Given the description of an element on the screen output the (x, y) to click on. 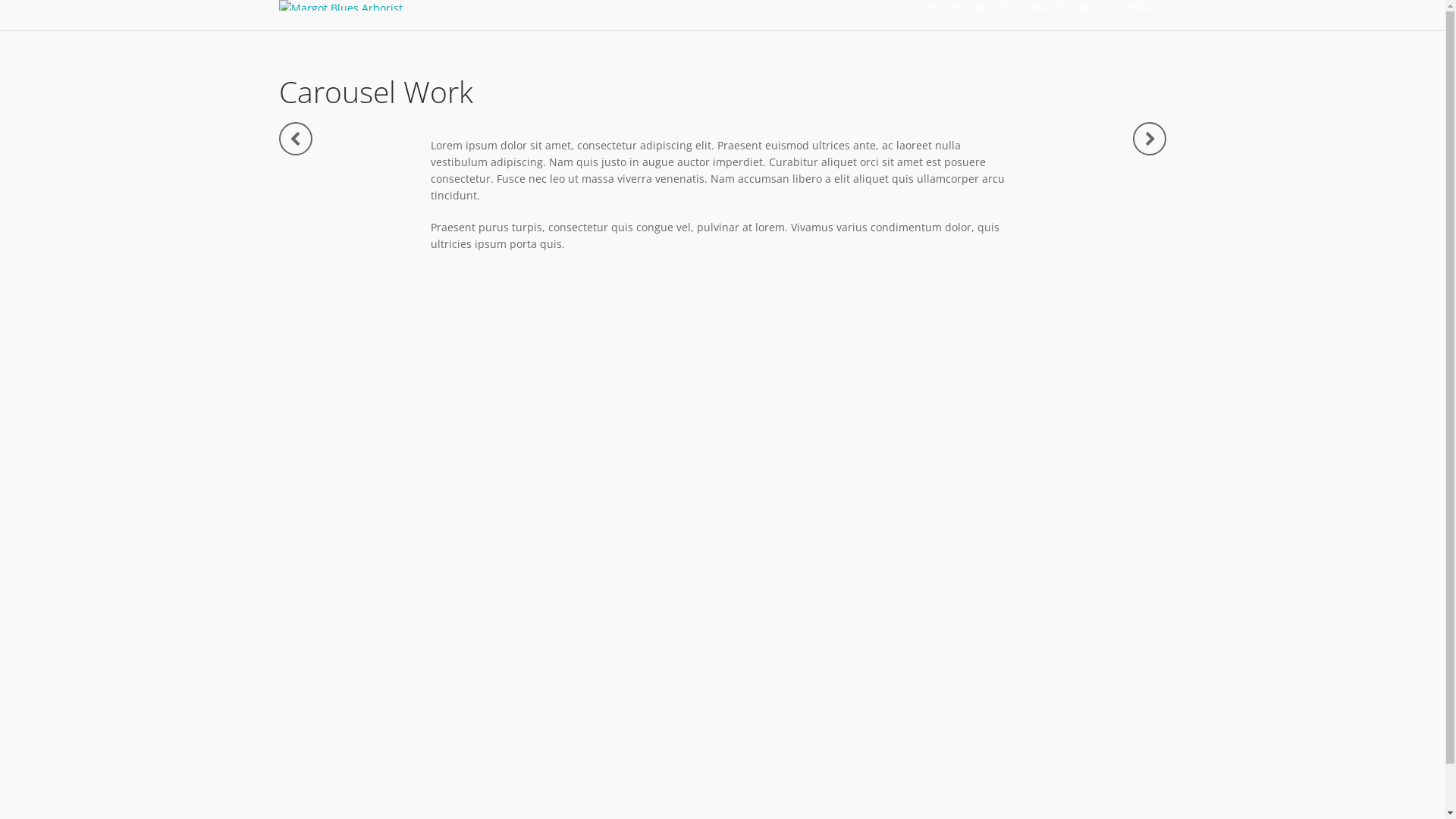
SERVICES Element type: text (1036, 7)
ABOUT Element type: text (983, 7)
HOME Element type: text (938, 7)
BLOG Element type: text (1085, 7)
CONTACT Element type: text (1135, 7)
